Given the description of an element on the screen output the (x, y) to click on. 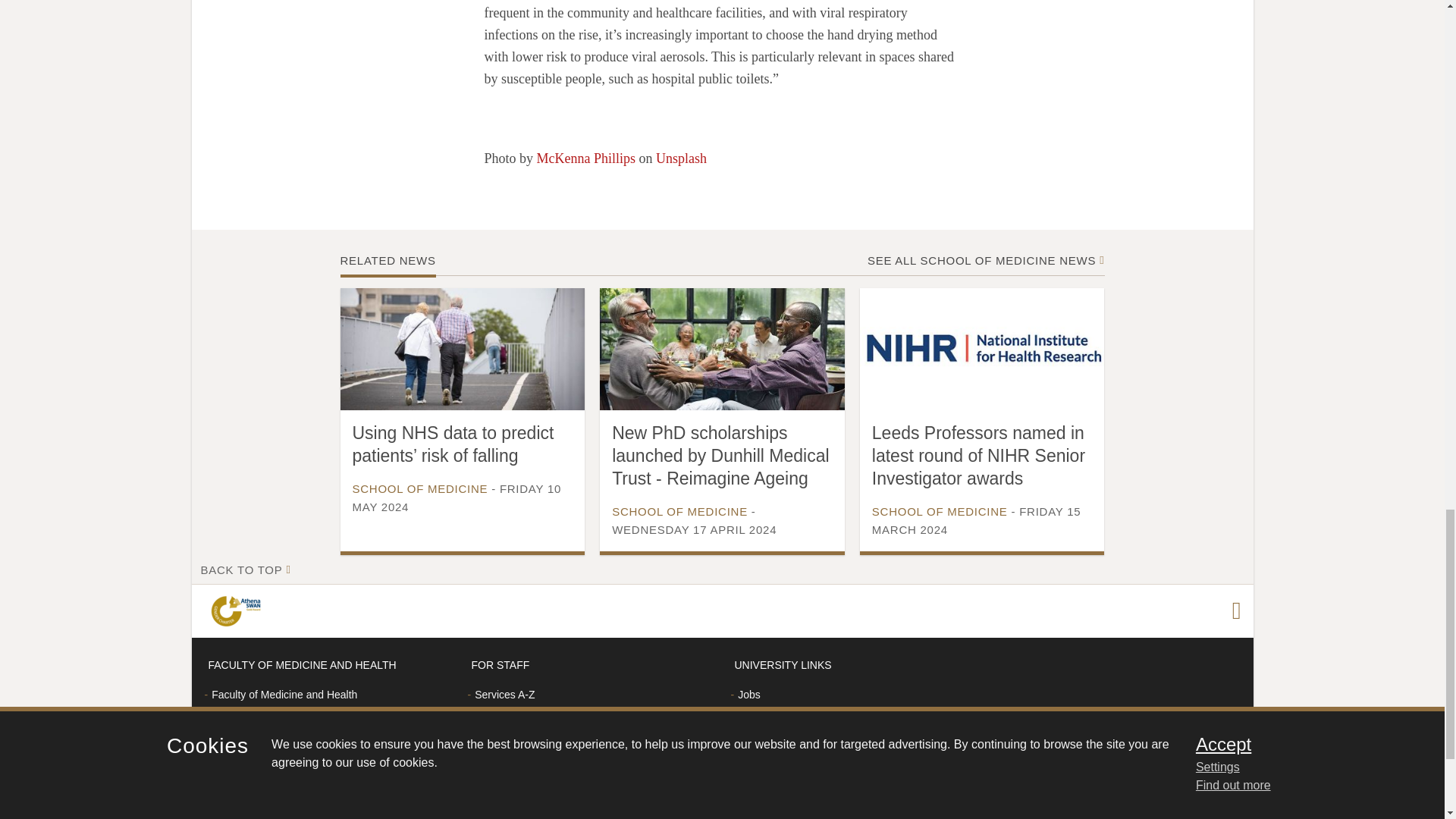
Visit Athena SWAN Gold (238, 610)
Go to Twitter page (1236, 610)
